Given the description of an element on the screen output the (x, y) to click on. 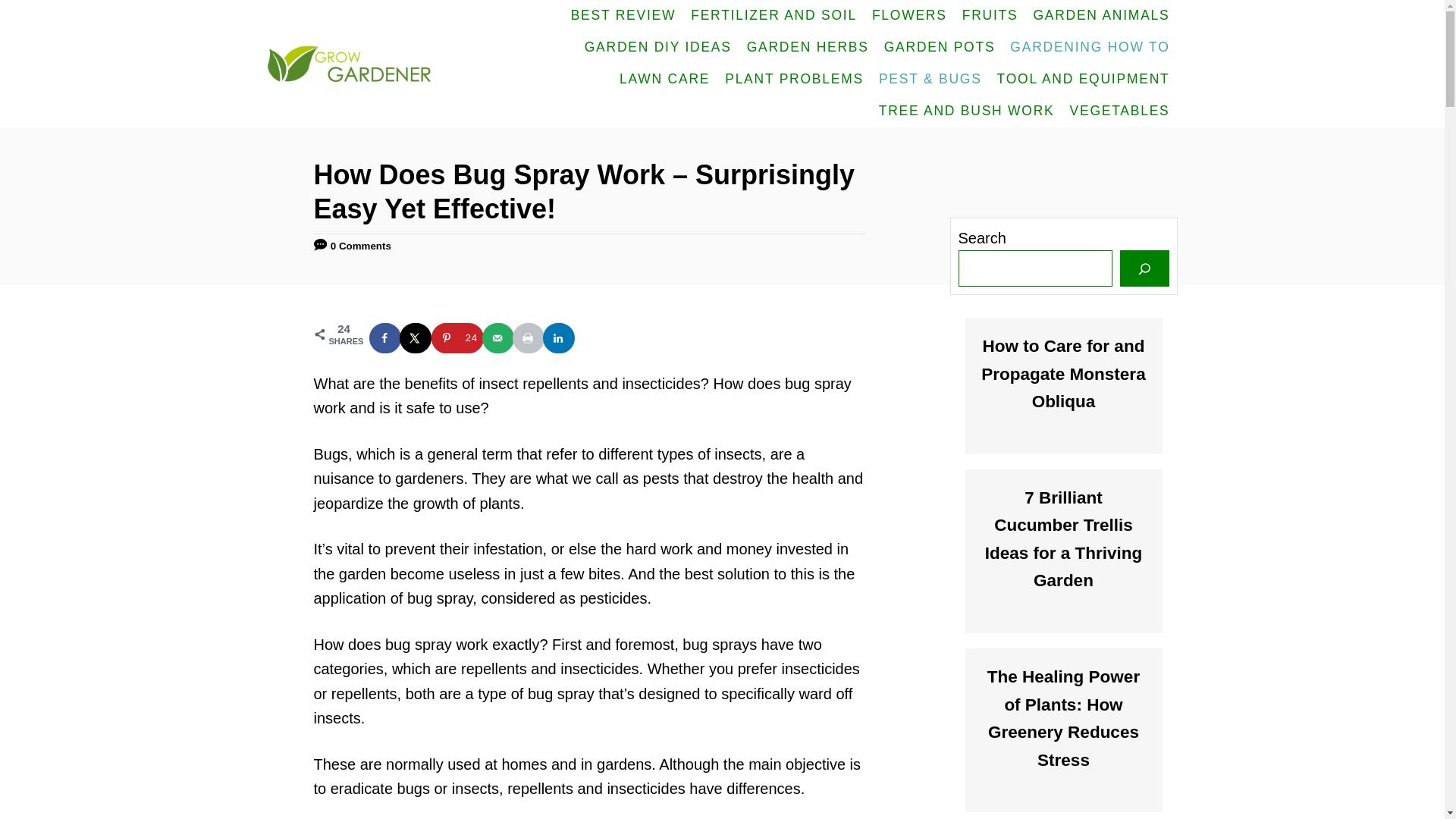
FERTILIZER AND SOIL (773, 15)
GARDEN DIY IDEAS (657, 47)
TOOL AND EQUIPMENT (1083, 79)
BEST REVIEW (623, 15)
GARDEN ANIMALS (1100, 15)
PLANT PROBLEMS (793, 79)
Share on Facebook (384, 337)
Save to Pinterest (456, 337)
TREE AND BUSH WORK (966, 111)
Print this webpage (528, 337)
LAWN CARE (664, 79)
24 (456, 337)
Send over email (498, 337)
VEGETABLES (1119, 111)
Share on LinkedIn (559, 337)
